Given the description of an element on the screen output the (x, y) to click on. 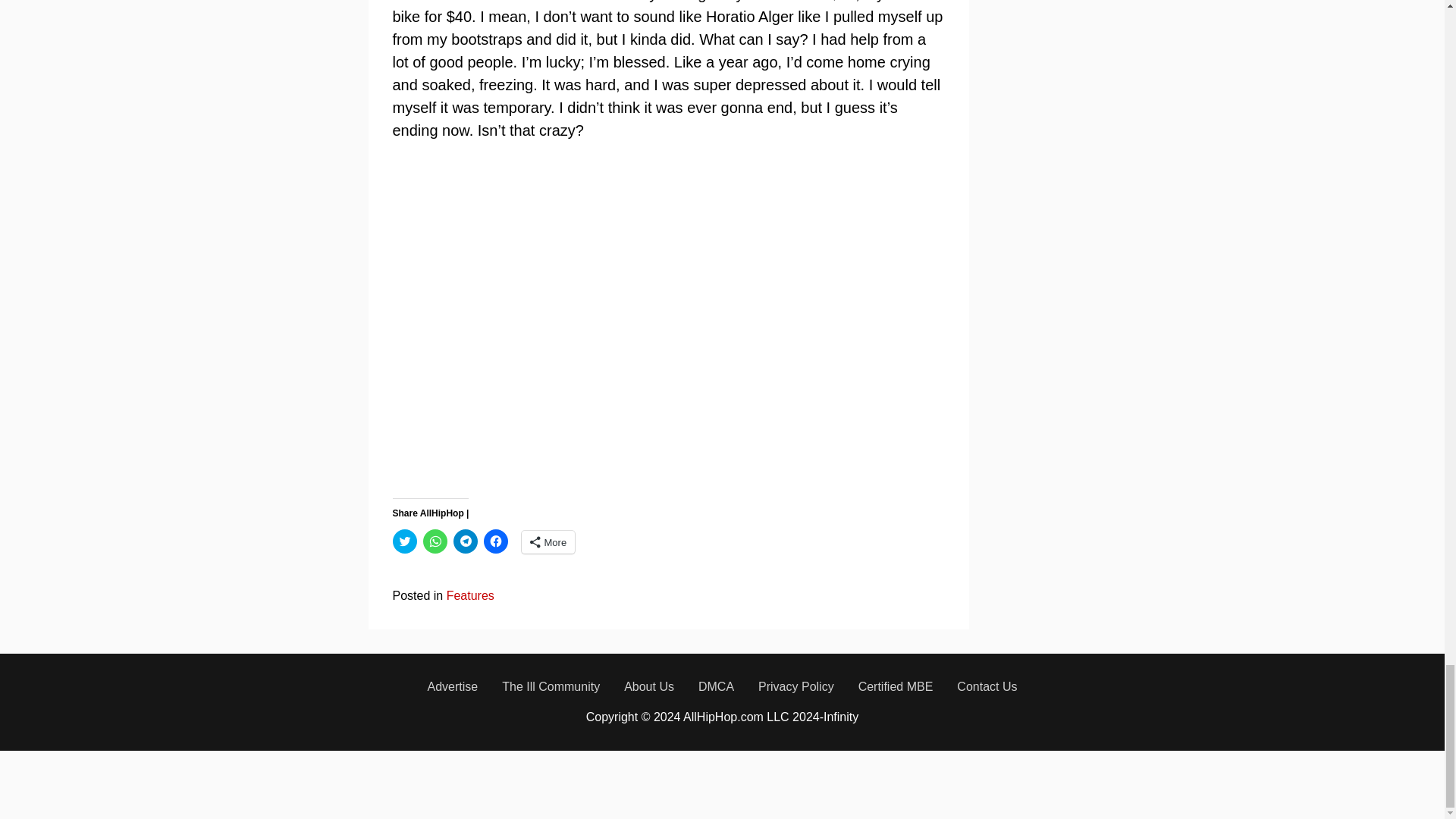
Click to share on Twitter (404, 541)
Click to share on Telegram (464, 541)
Click to share on WhatsApp (434, 541)
Click to share on Facebook (495, 541)
